Given the description of an element on the screen output the (x, y) to click on. 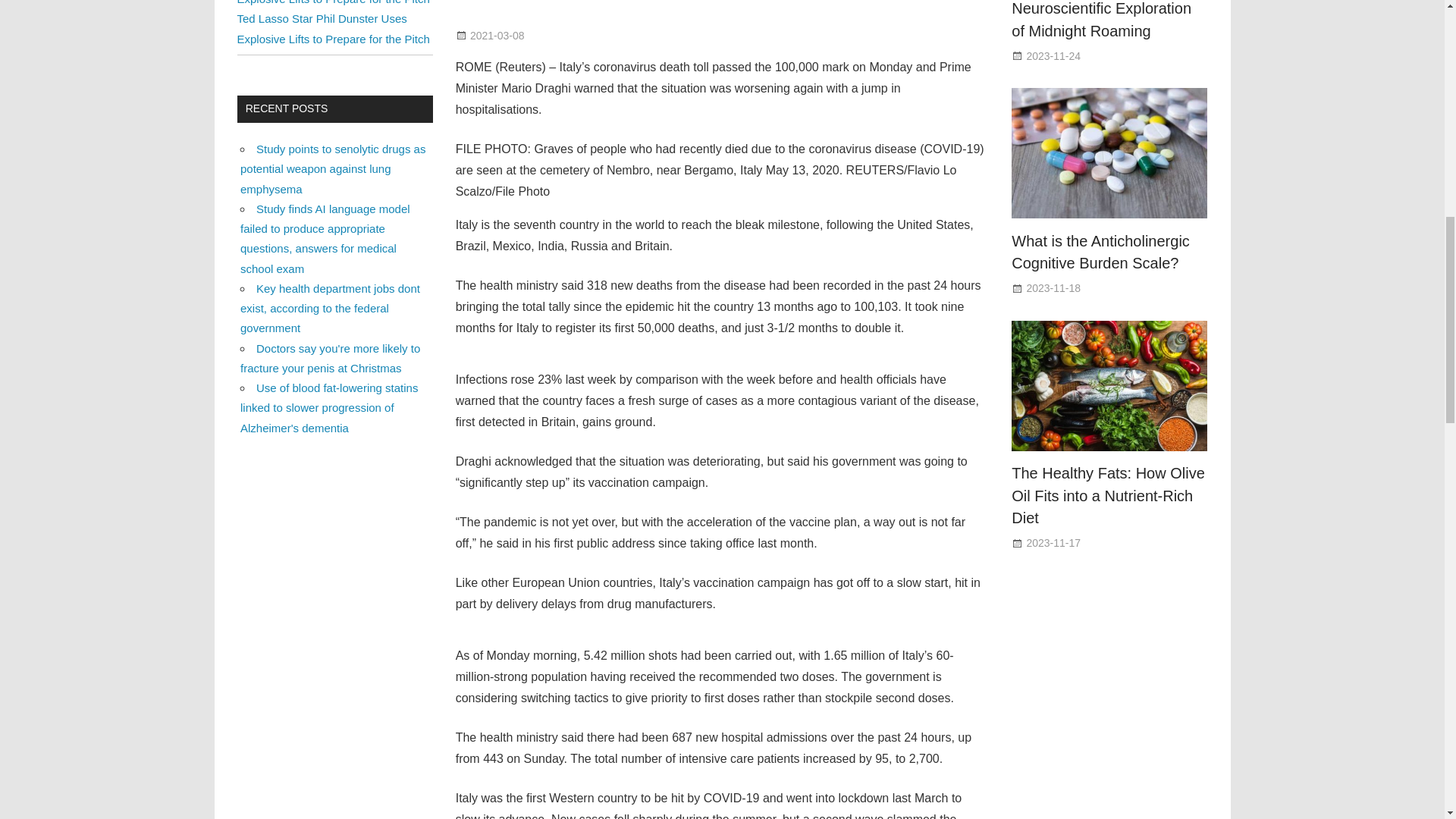
2021-03-08 (497, 34)
Health News (582, 34)
6:18 pm (497, 34)
View all posts by mediabest (577, 34)
mediabest (577, 34)
